Given the description of an element on the screen output the (x, y) to click on. 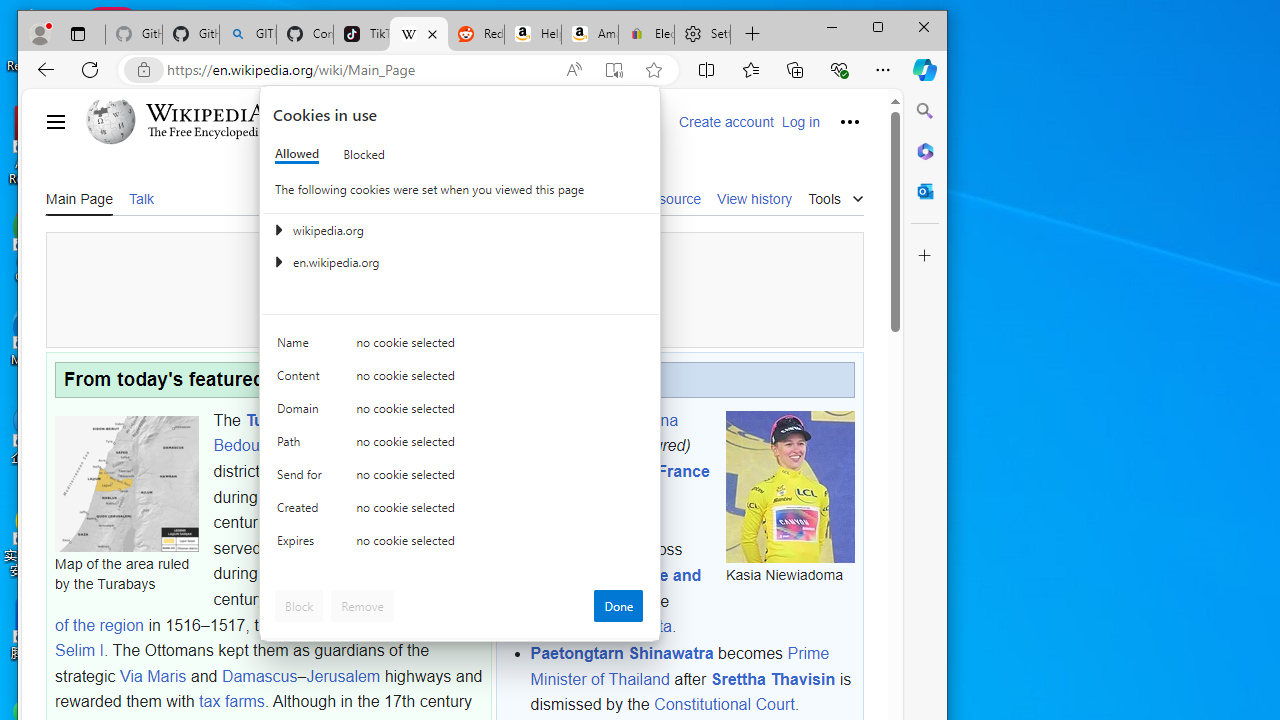
Done (617, 605)
Name (302, 346)
Path (302, 446)
Allowed (296, 153)
Block (299, 605)
Created (302, 511)
Expires (302, 544)
Remove (362, 605)
no cookie selected (500, 544)
Domain (302, 413)
Content (302, 380)
Class: c0153 c0157 c0154 (460, 347)
Class: c0153 c0157 (460, 545)
Blocked (363, 153)
Send for (302, 479)
